Given the description of an element on the screen output the (x, y) to click on. 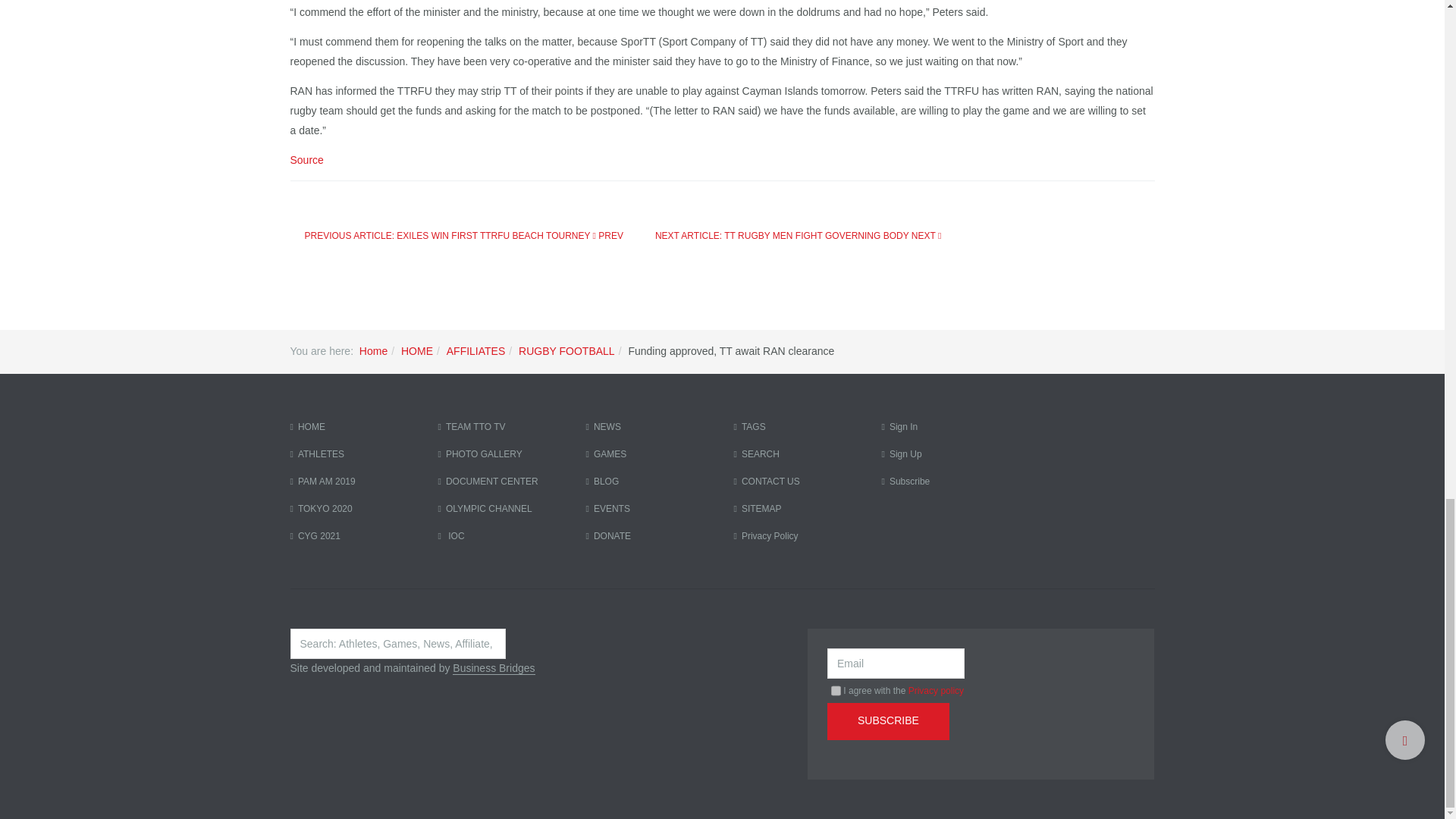
Business Bridges (493, 667)
on (836, 690)
Terms and conditions (836, 690)
Subscribe (888, 721)
